Given the description of an element on the screen output the (x, y) to click on. 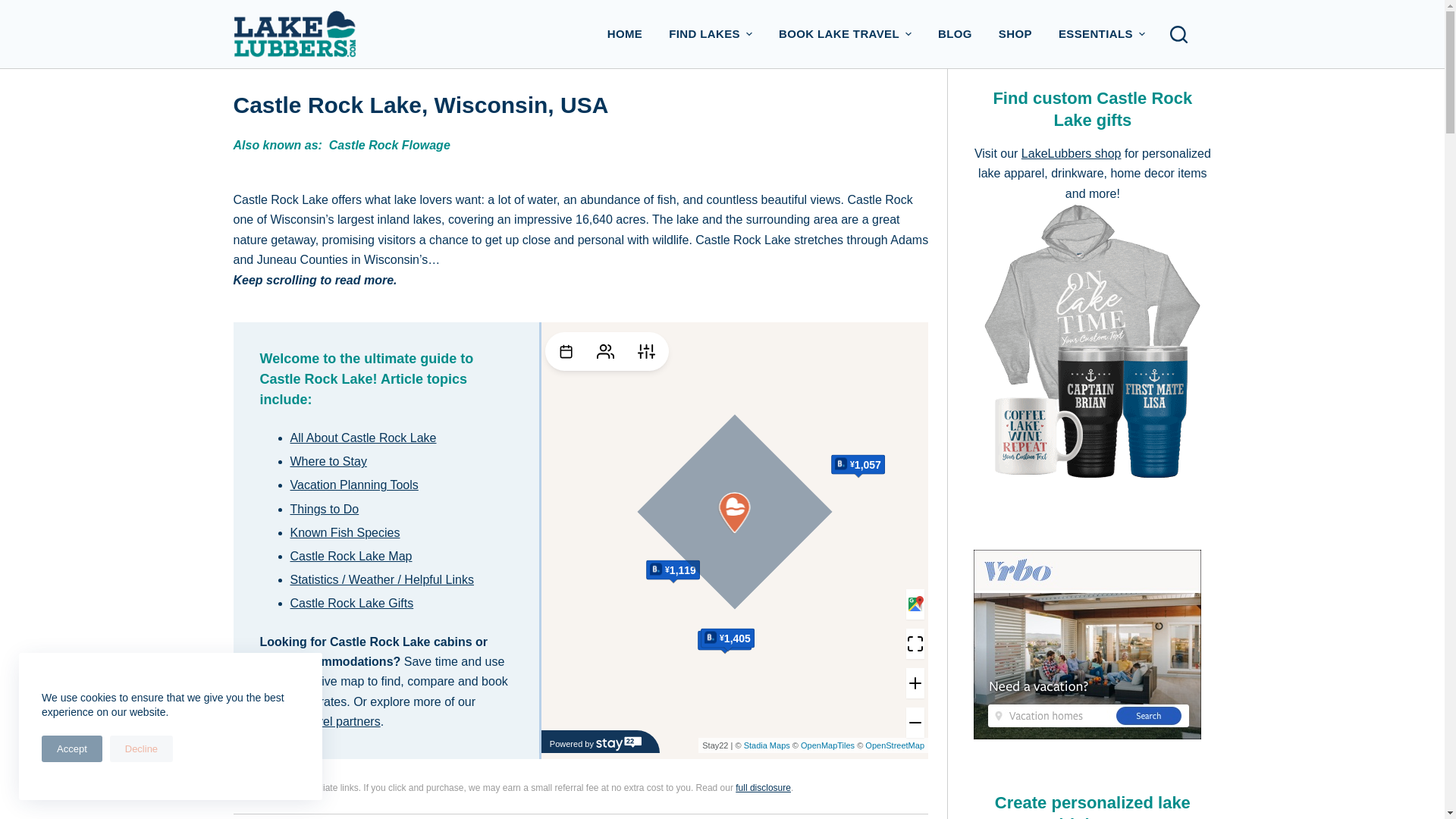
BOOK LAKE TRAVEL (844, 33)
Skip to content (15, 7)
HOME (625, 33)
Decline (141, 748)
Accept (71, 748)
FIND LAKES (710, 33)
